Given the description of an element on the screen output the (x, y) to click on. 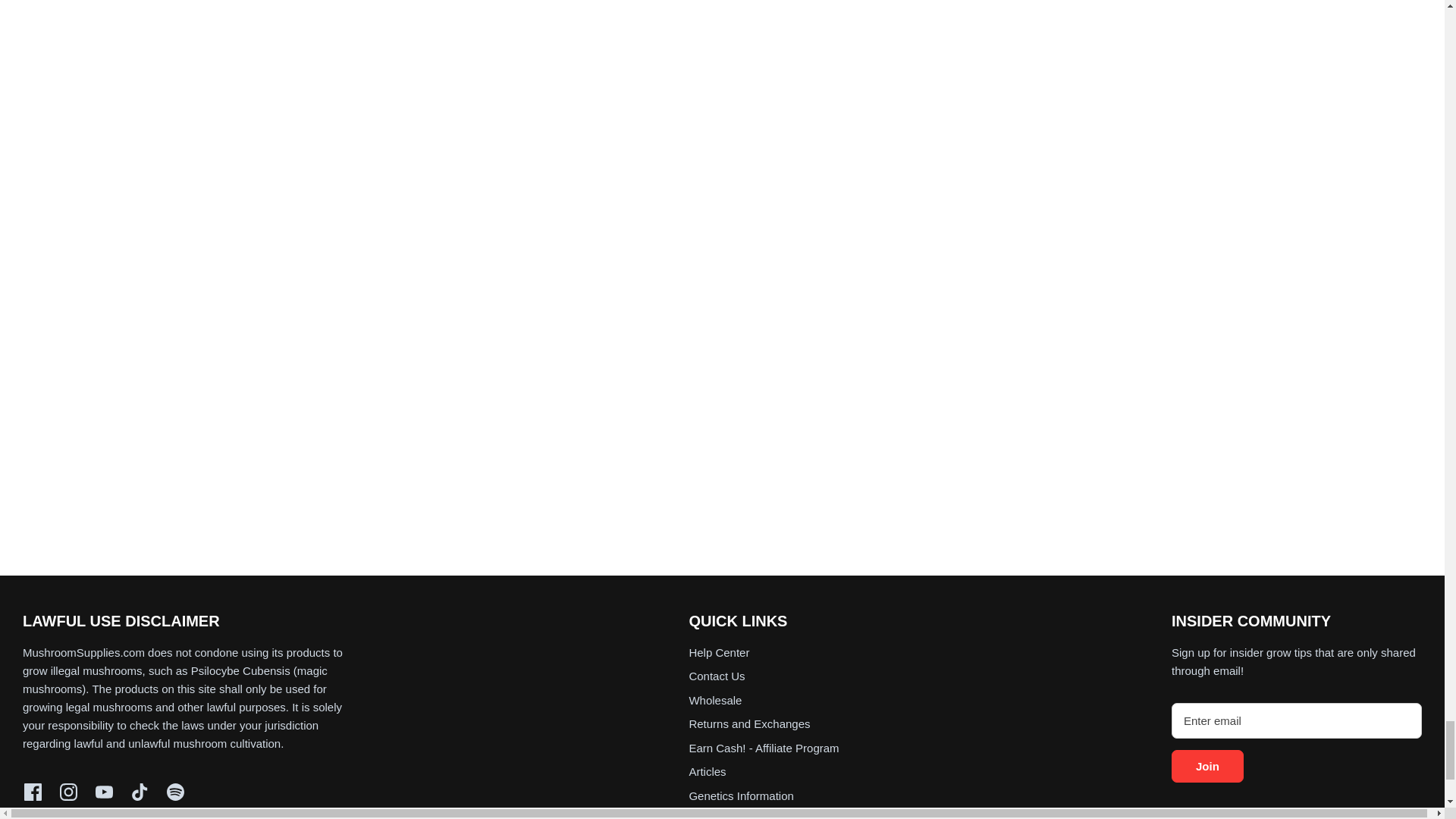
Instagram (68, 791)
Facebook (33, 791)
Youtube (104, 791)
